Given the description of an element on the screen output the (x, y) to click on. 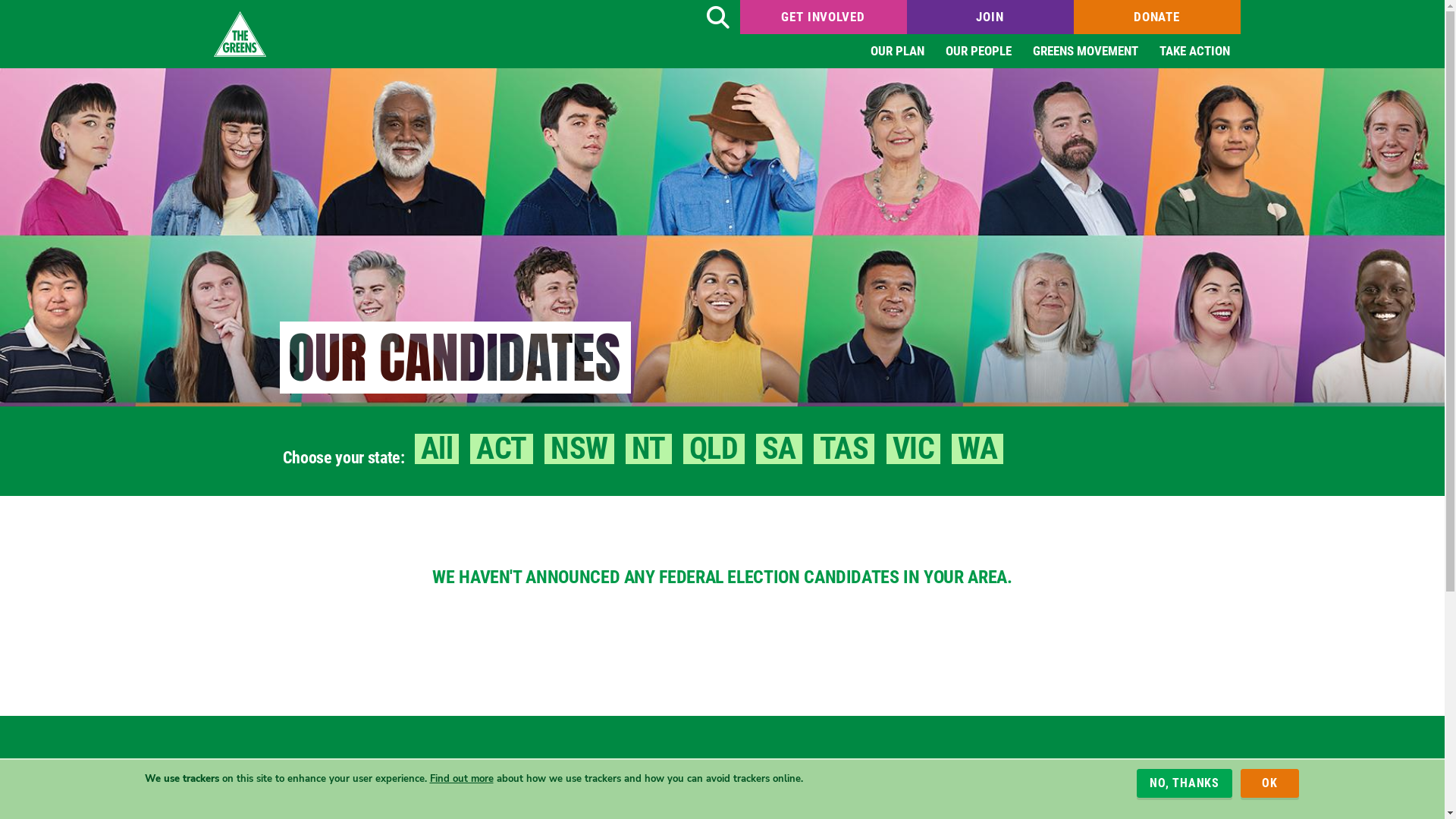
NO, THANKS Element type: text (1184, 782)
NSW Element type: text (579, 448)
VIC Element type: text (912, 448)
OUR PLAN Element type: text (897, 51)
All Element type: text (436, 448)
GREENS MOVEMENT Element type: text (1085, 51)
Find out more Element type: text (460, 778)
TAS Element type: text (844, 448)
JOIN Element type: text (989, 17)
DONATE Element type: text (1156, 17)
Skip to main content Element type: text (0, 0)
WA Element type: text (977, 448)
Search Element type: text (716, 17)
ACT Element type: text (501, 448)
OK Element type: text (1269, 782)
NT Element type: text (648, 448)
SA Element type: text (779, 448)
TAKE ACTION Element type: text (1193, 51)
GET INVOLVED Element type: text (823, 17)
OUR PEOPLE Element type: text (977, 51)
QLD Element type: text (713, 448)
